Given the description of an element on the screen output the (x, y) to click on. 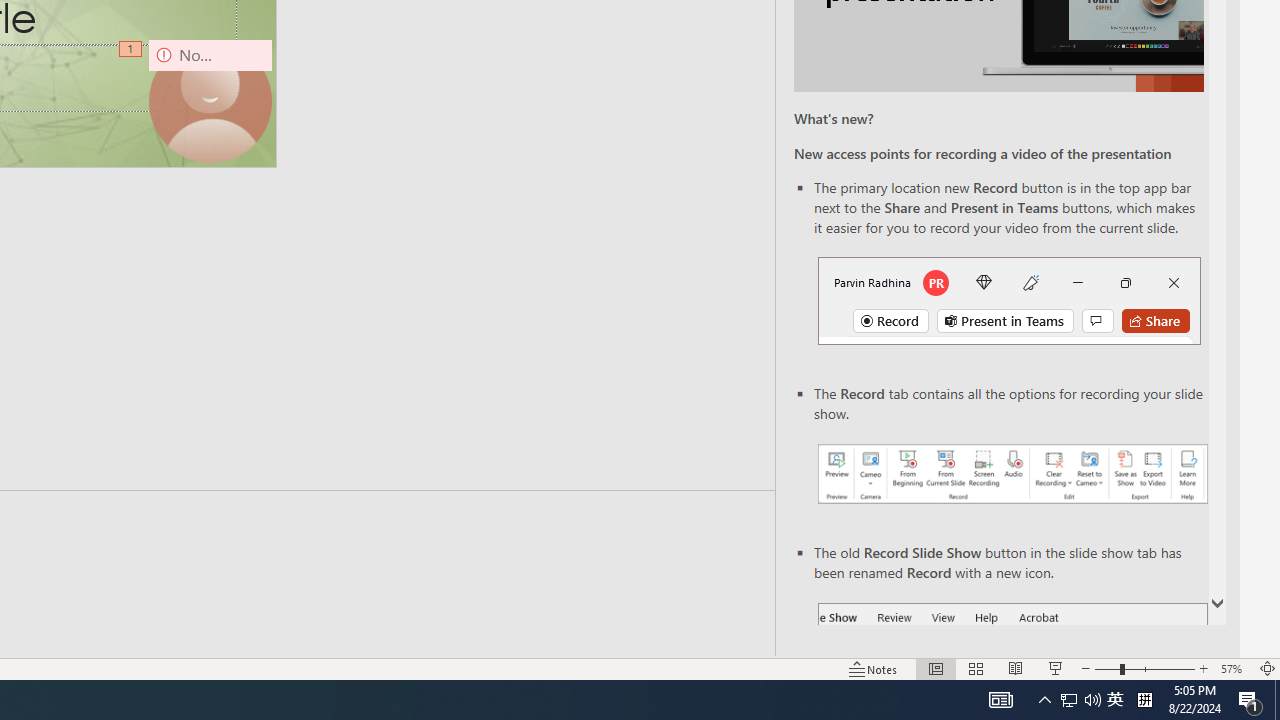
Animation, sequence 1, on Camera 9 (131, 50)
Record button in top bar (1008, 300)
Camera 9, No camera detected. (210, 101)
Zoom 57% (1234, 668)
Record your presentations screenshot one (1012, 473)
